Given the description of an element on the screen output the (x, y) to click on. 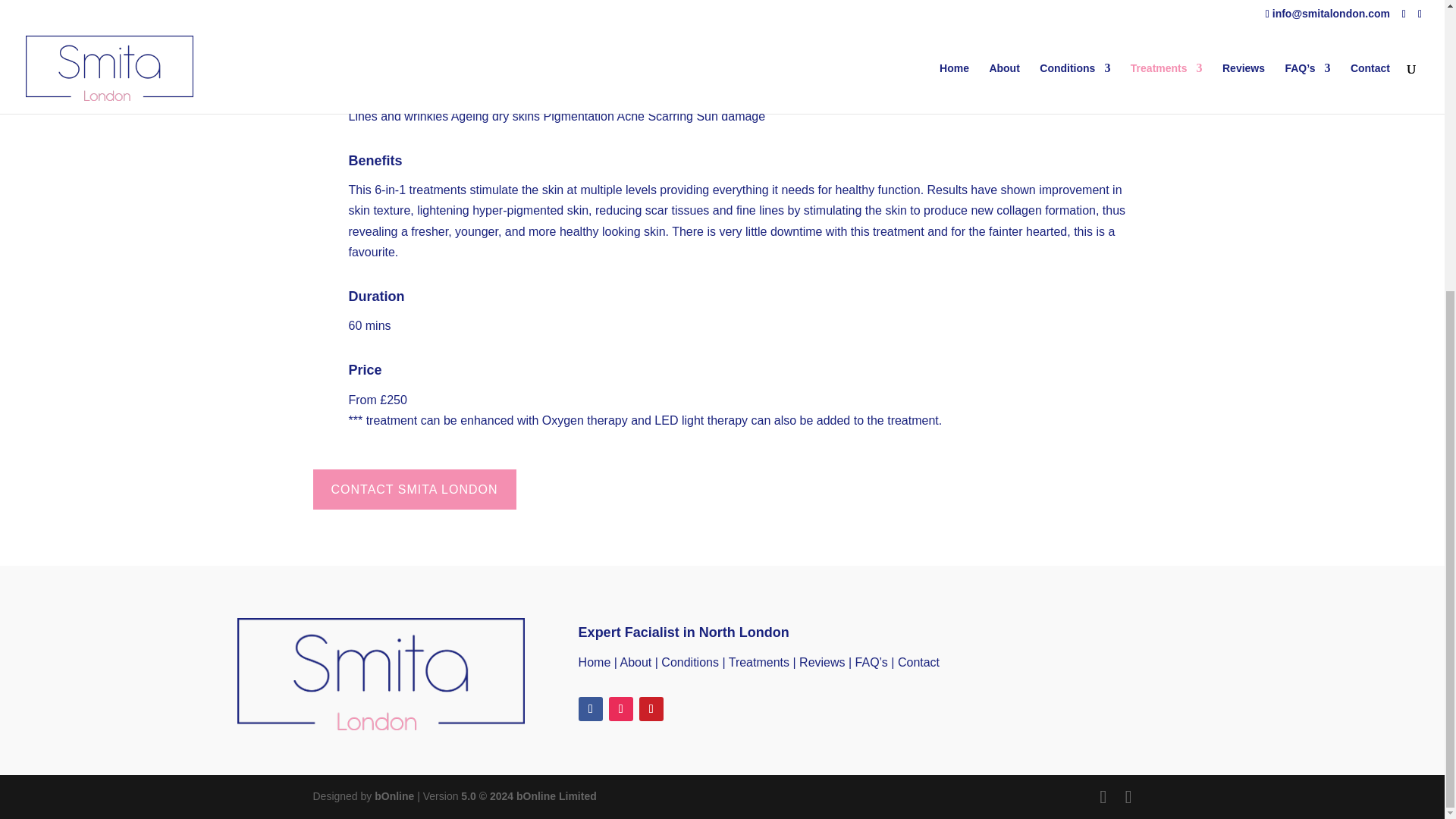
Follow on Instagram (620, 708)
Frequently asked questions and answers (872, 661)
Home (594, 661)
About Smita London (635, 661)
Aesthetic Treatments (759, 661)
Reviews (821, 661)
Follow on Facebook (590, 708)
Common skin and hair conditions (690, 661)
Contact Smita London (918, 661)
